Given the description of an element on the screen output the (x, y) to click on. 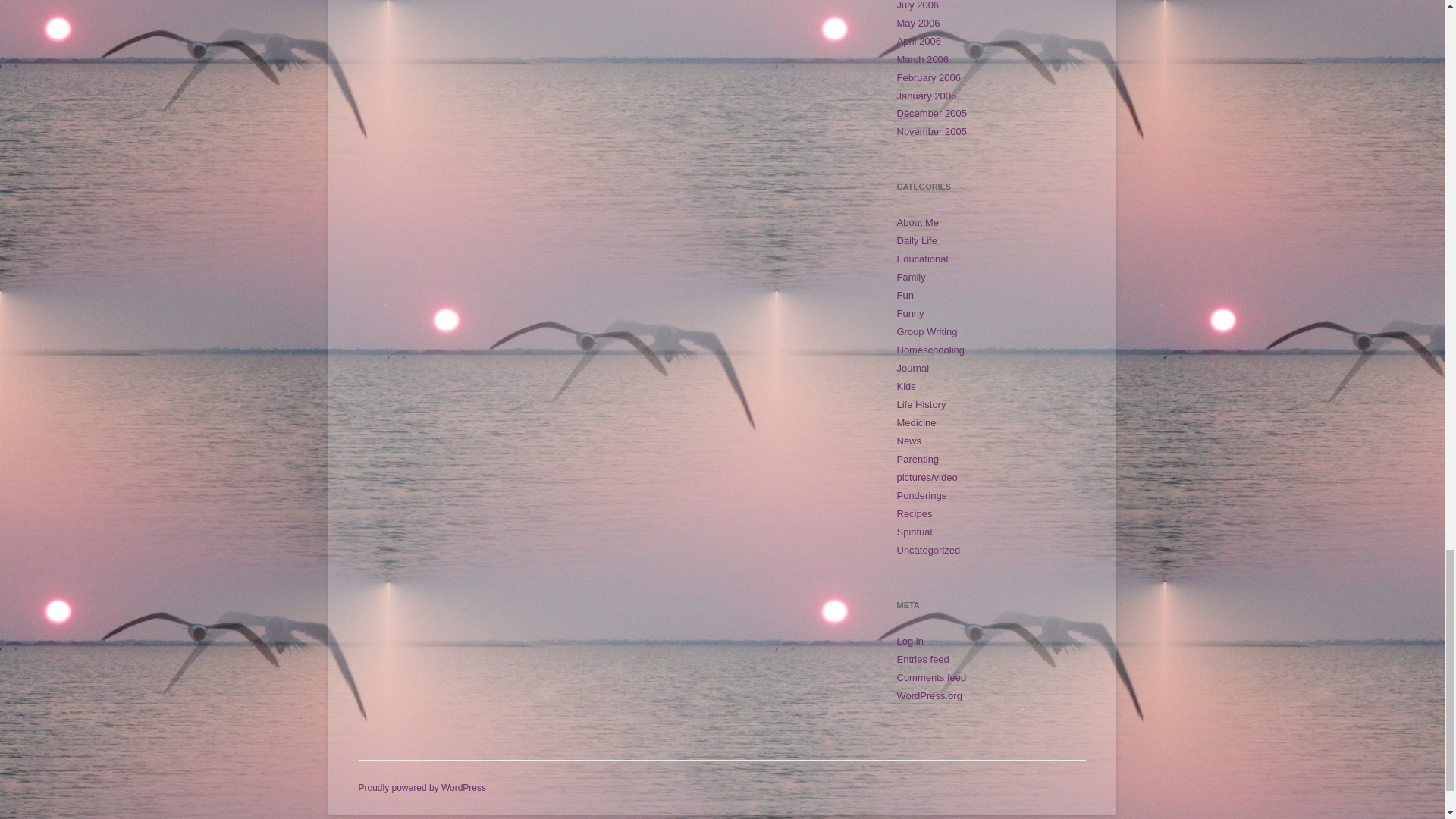
Semantic Personal Publishing Platform (422, 787)
